Given the description of an element on the screen output the (x, y) to click on. 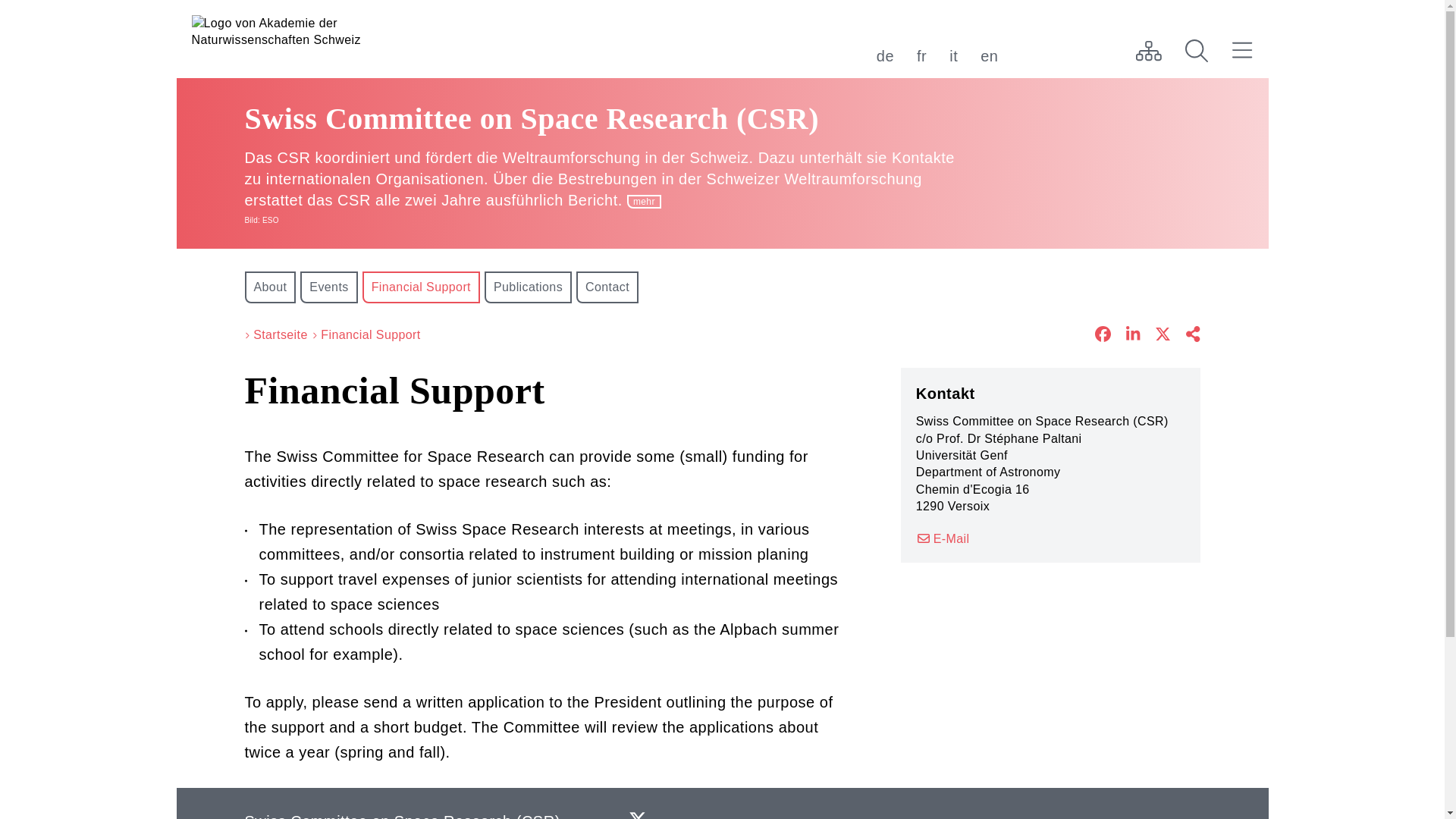
mehr (644, 201)
de (884, 55)
Financial Support (421, 287)
Events (328, 287)
en (988, 55)
Contact (607, 287)
Financial Support (370, 334)
Startseite (280, 334)
fr (921, 55)
X (637, 817)
it (953, 55)
About (270, 287)
E-Mail (942, 538)
Publications (528, 287)
